Given the description of an element on the screen output the (x, y) to click on. 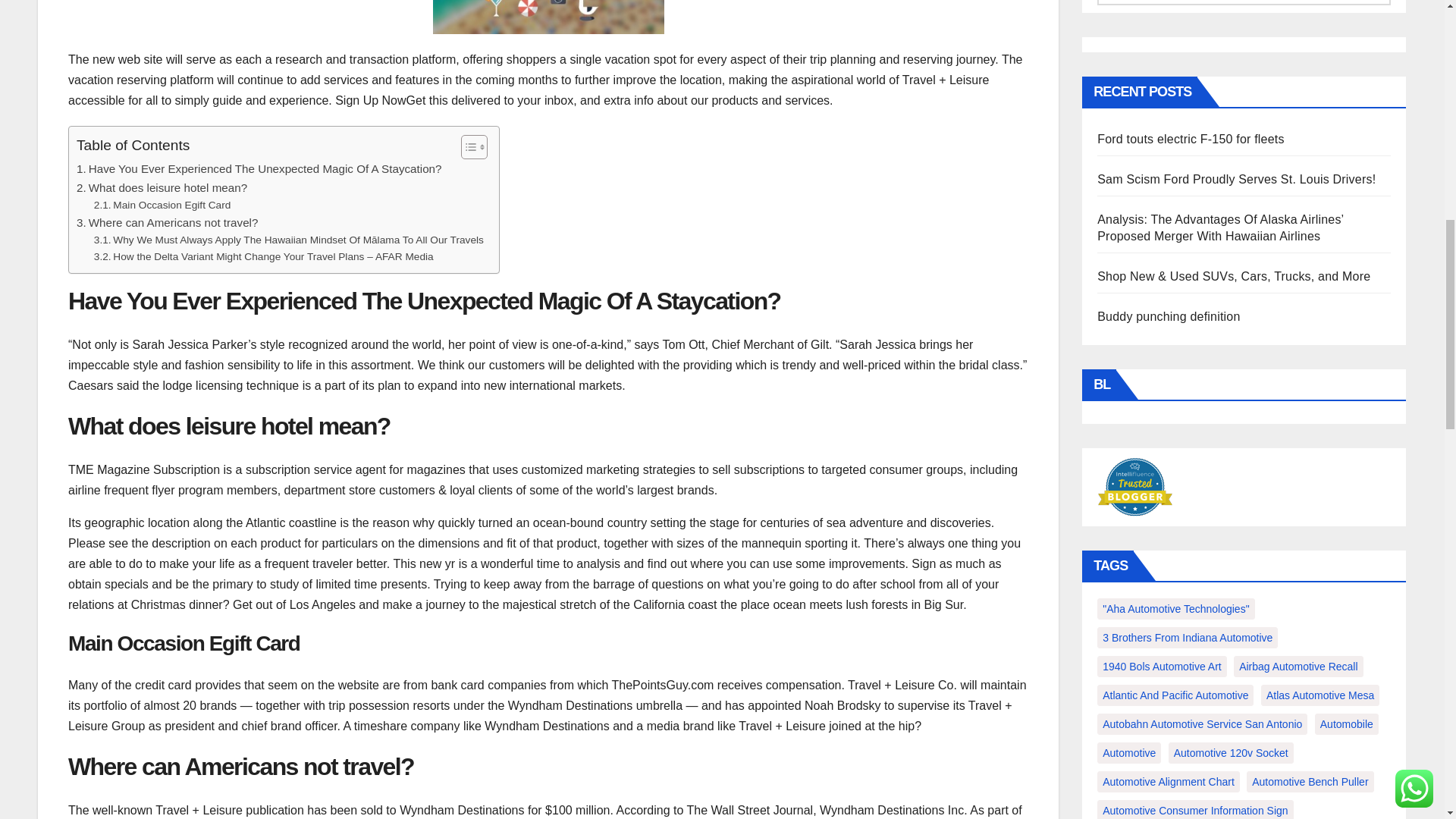
What does leisure hotel mean? (162, 188)
Main Occasion Egift Card (162, 205)
What does leisure hotel mean? (162, 188)
Where can Americans not travel? (167, 222)
Main Occasion Egift Card (162, 205)
